Given the description of an element on the screen output the (x, y) to click on. 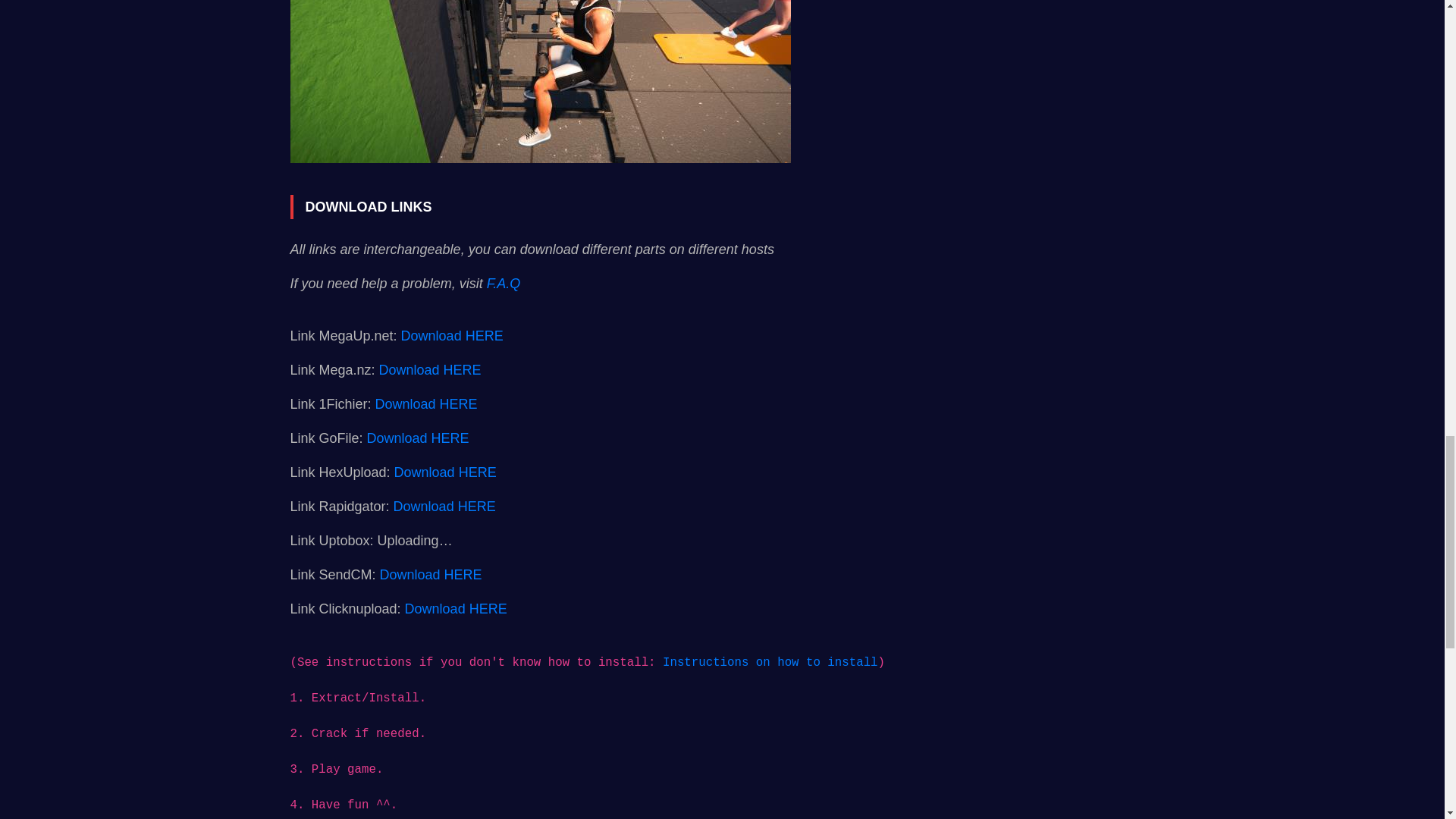
Gym Simulator 24 PC Crack (539, 81)
